Given the description of an element on the screen output the (x, y) to click on. 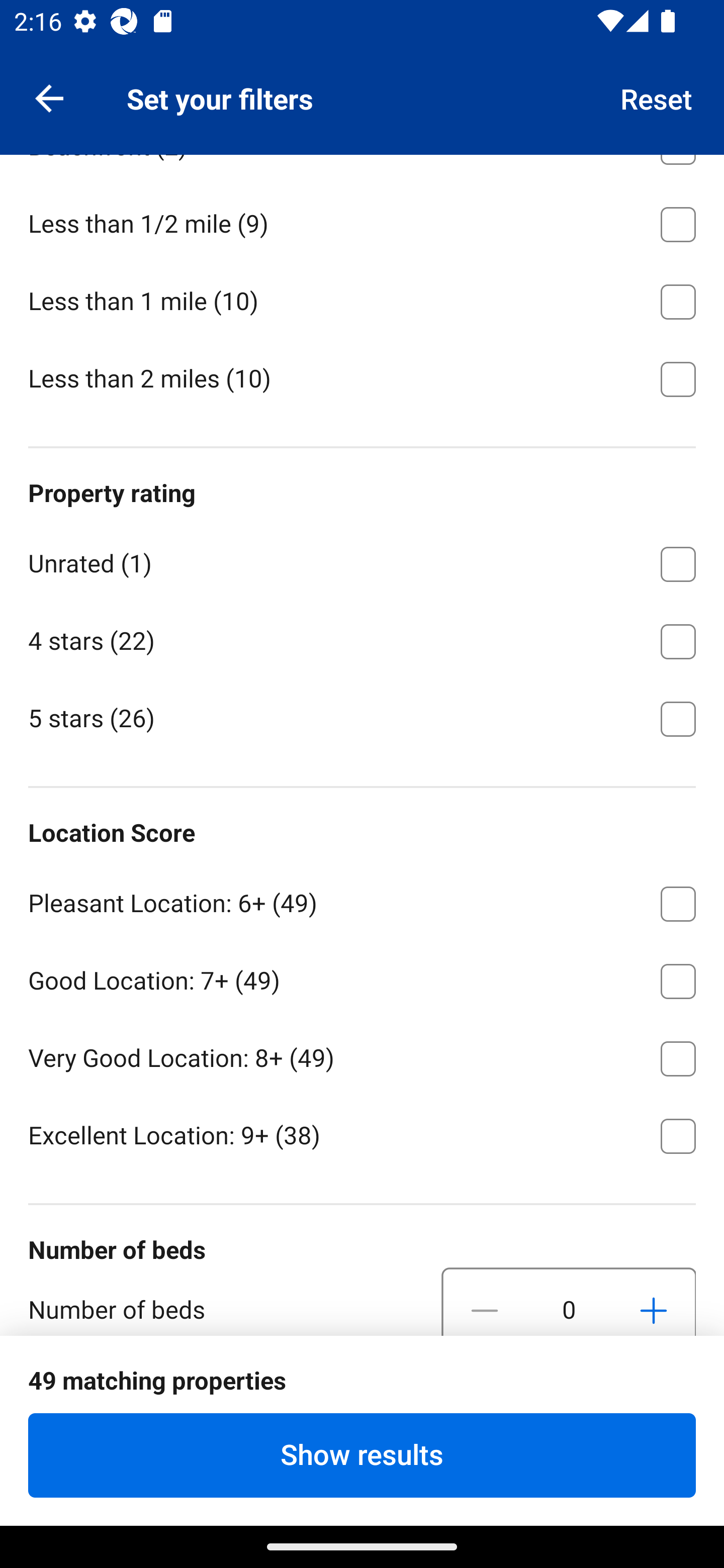
Navigate up (49, 97)
Reset (656, 97)
Less than 1/2 mile ⁦(9) (361, 220)
Less than 1 mile ⁦(10) (361, 298)
Less than 2 miles ⁦(10) (361, 377)
Unrated ⁦(1) (361, 560)
4 stars ⁦(22) (361, 637)
5 stars ⁦(26) (361, 717)
Pleasant Location: 6+ ⁦(49) (361, 900)
Good Location: 7+ ⁦(49) (361, 977)
Very Good Location: 8+ ⁦(49) (361, 1055)
Excellent Location: 9+ ⁦(38) (361, 1134)
Decrease (484, 1301)
Increase (653, 1301)
Show results (361, 1454)
